Given the description of an element on the screen output the (x, y) to click on. 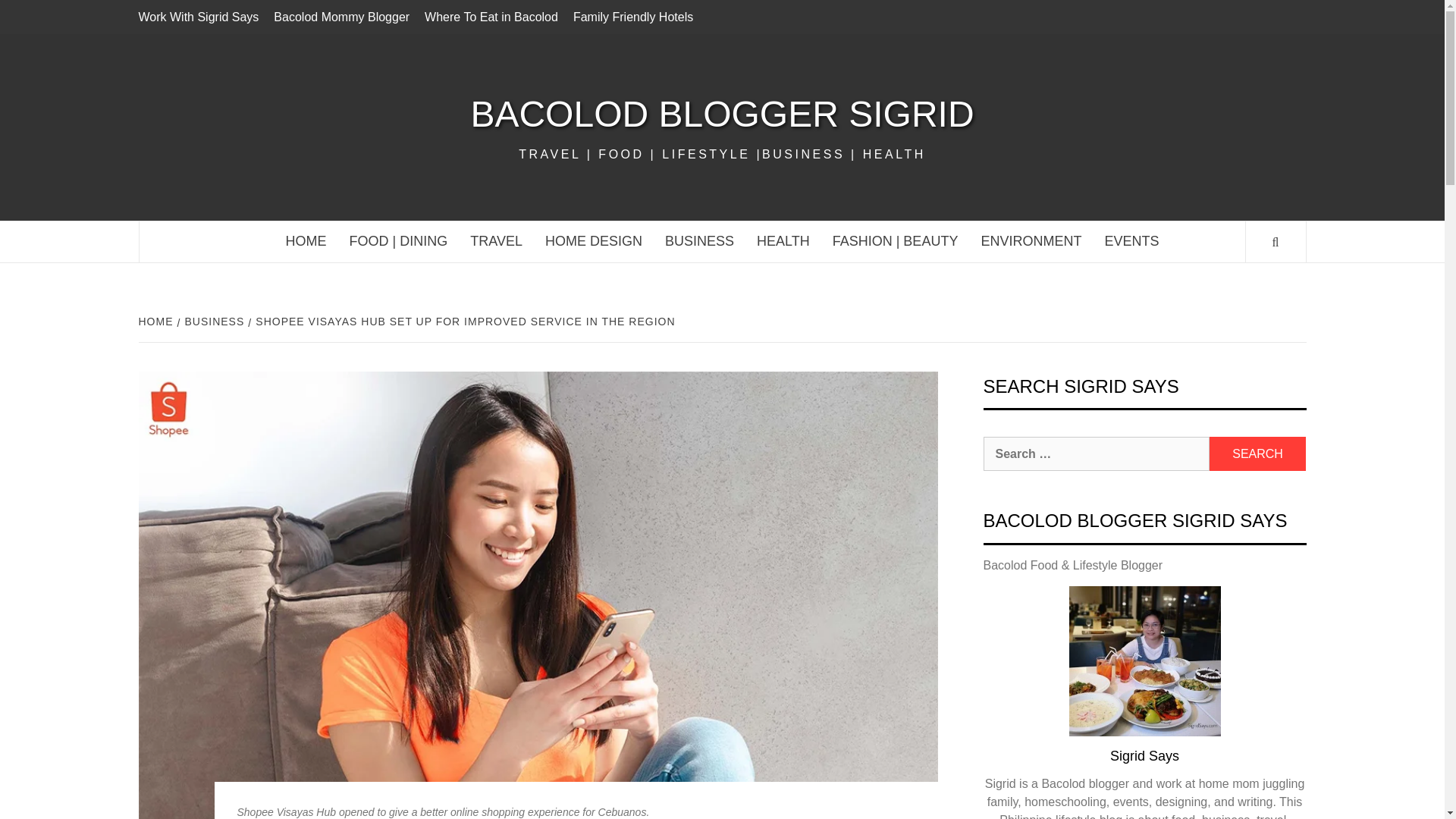
Bacolod Restaurants (398, 241)
Beauty products, styles, fashion picks (895, 241)
SHOPEE VISAYAS HUB SET UP FOR IMPROVED SERVICE IN THE REGION (462, 321)
Health, Lifestyle, Supplements (783, 241)
BUSINESS (212, 321)
HOME DESIGN (593, 241)
Family Friendly Hotels (633, 17)
Destinations and Travel Tips (496, 241)
HOME (306, 241)
EVENTS (1131, 241)
ENVIRONMENT (1031, 241)
Search (1257, 453)
BUSINESS (699, 241)
BACOLOD BLOGGER SIGRID (720, 114)
Where To Eat in Bacolod (491, 17)
